Given the description of an element on the screen output the (x, y) to click on. 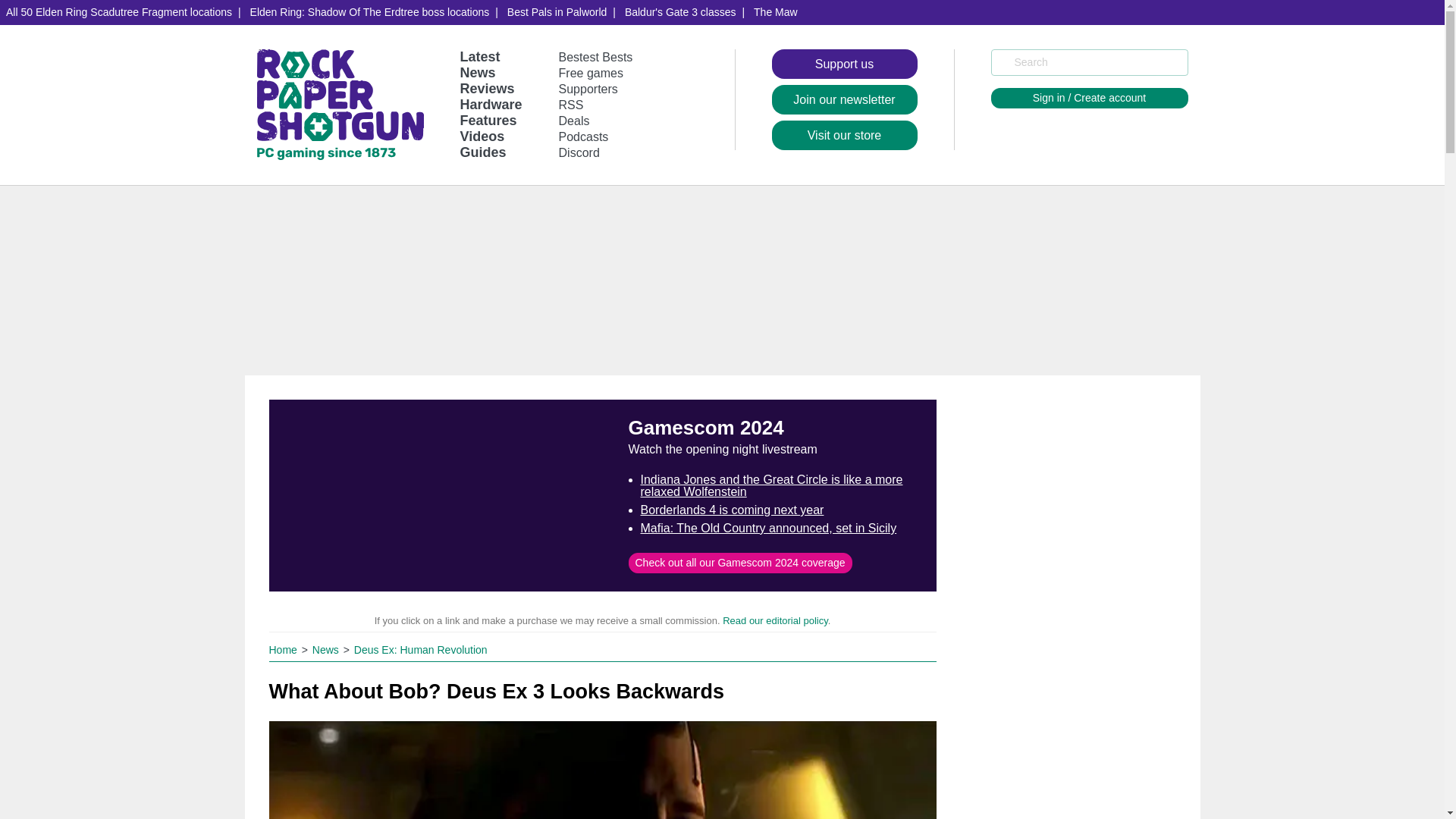
News (327, 649)
Mafia: The Old Country announced, set in Sicily (768, 527)
Features (488, 120)
Deus Ex: Human Revolution (420, 649)
All 50 Elden Ring Scadutree Fragment locations (119, 12)
Join our newsletter (844, 99)
Deals (574, 120)
Videos (481, 136)
Supporters (588, 88)
Visit our store (844, 134)
